Given the description of an element on the screen output the (x, y) to click on. 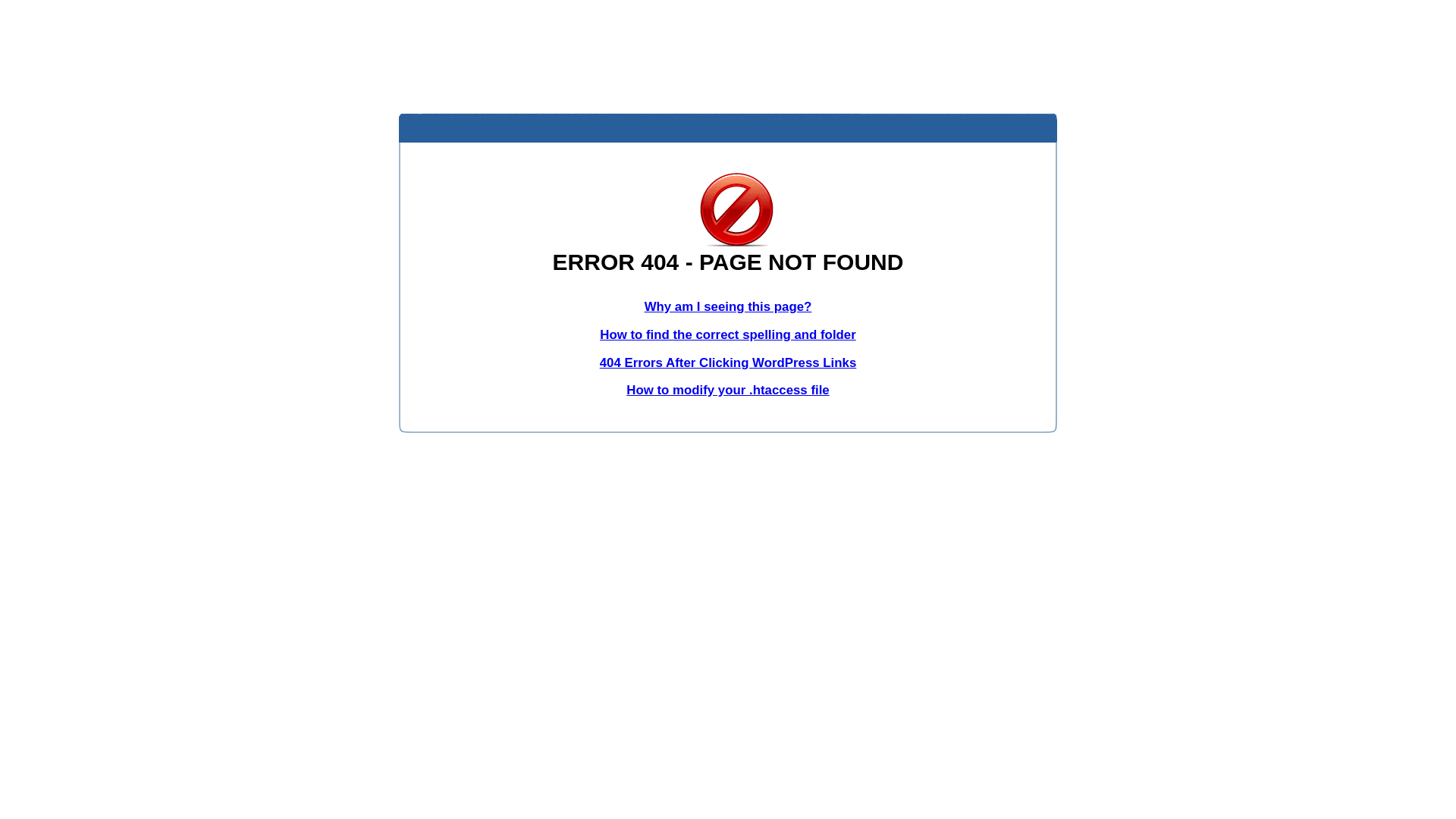
How to find the correct spelling and folder Element type: text (727, 334)
Why am I seeing this page? Element type: text (728, 306)
404 Errors After Clicking WordPress Links Element type: text (727, 362)
How to modify your .htaccess file Element type: text (727, 389)
